Given the description of an element on the screen output the (x, y) to click on. 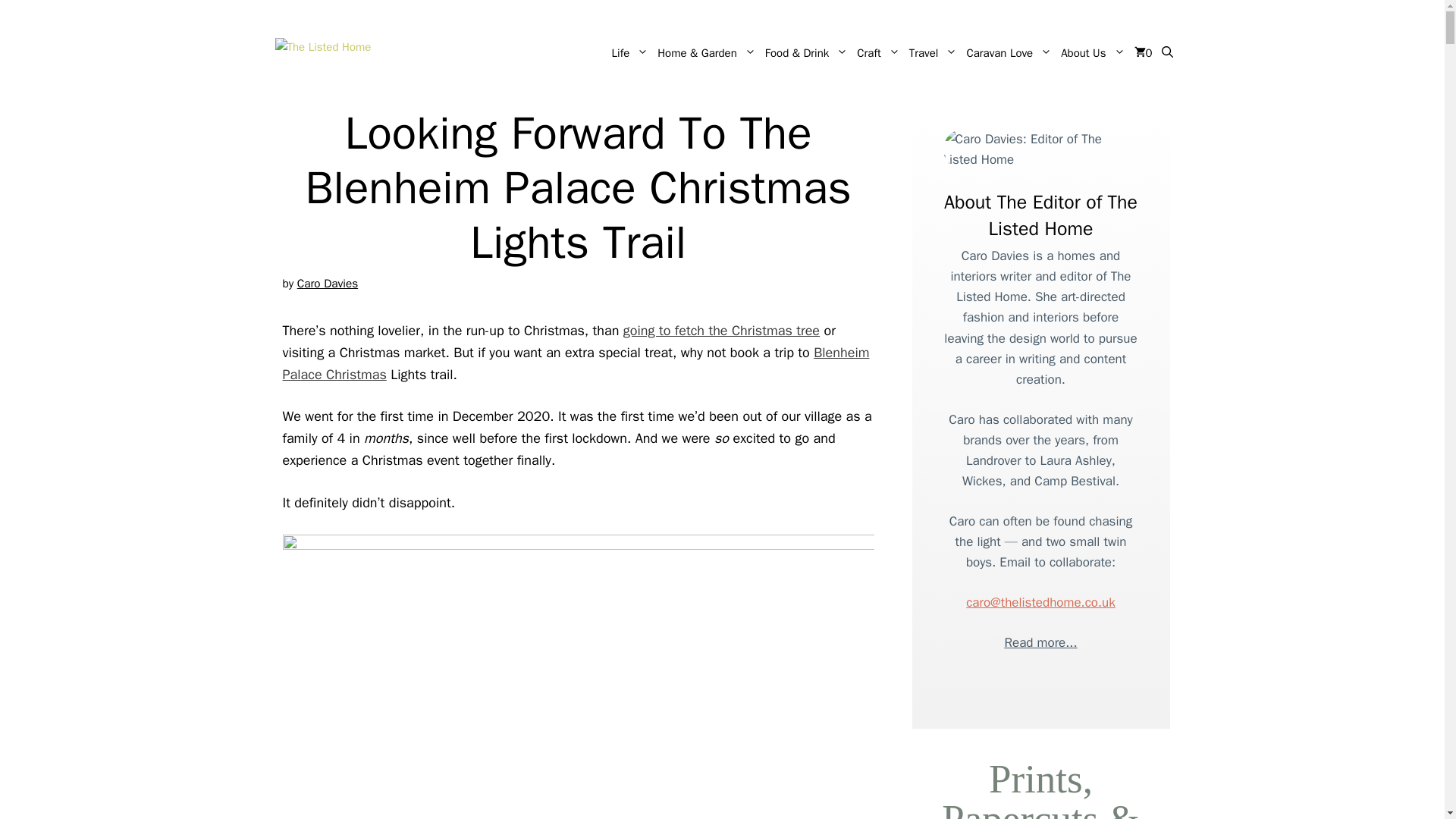
The Listed Home (407, 53)
Travel (933, 53)
View all posts by Caro Davies (327, 283)
Craft (877, 53)
Life (630, 53)
Caravan Love (1008, 53)
